Given the description of an element on the screen output the (x, y) to click on. 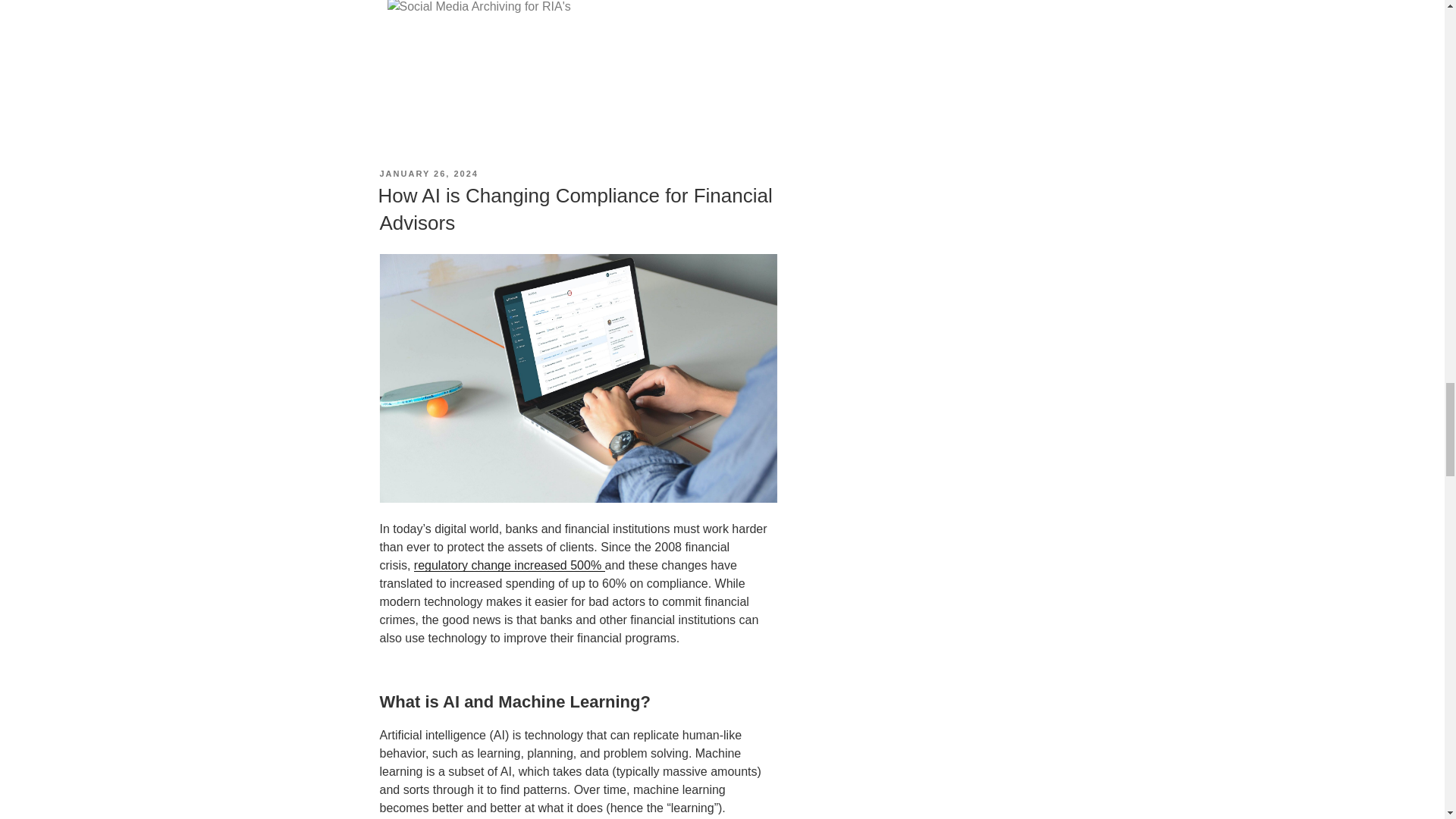
JANUARY 26, 2024 (427, 173)
How AI is Changing Compliance for Financial Advisors (574, 209)
